Given the description of an element on the screen output the (x, y) to click on. 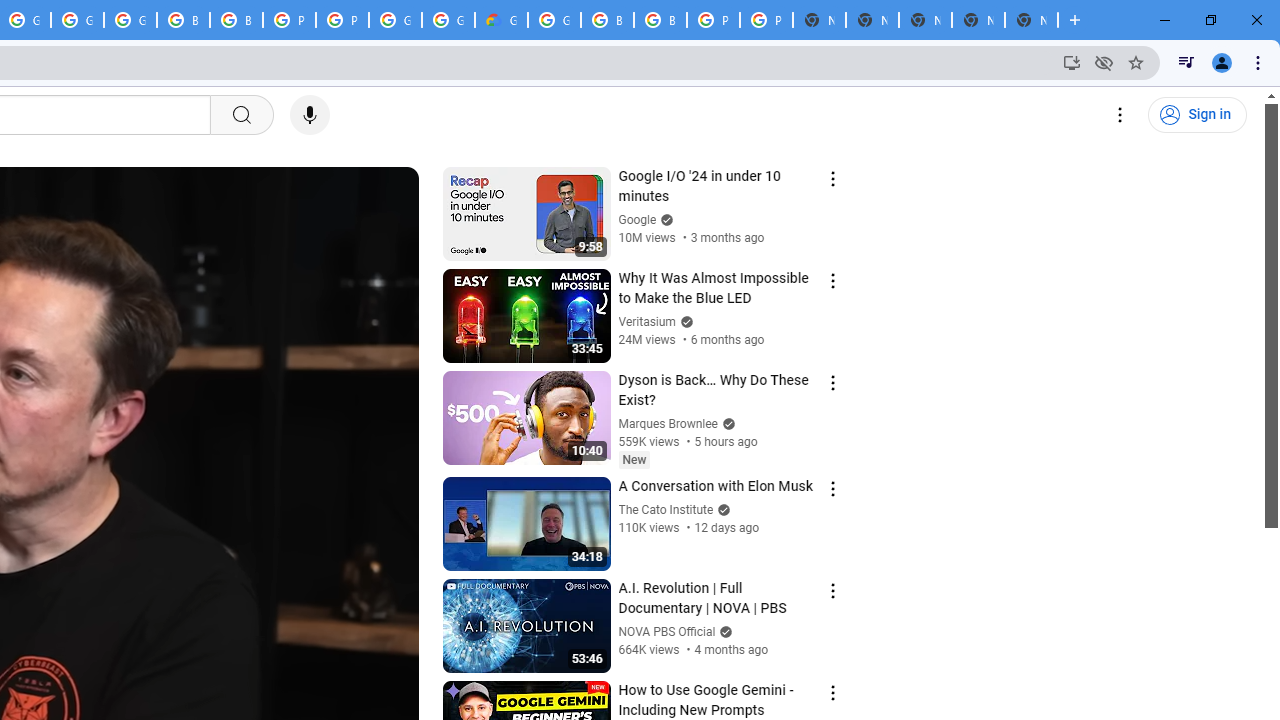
Browse Chrome as a guest - Computer - Google Chrome Help (183, 20)
Google Cloud Platform (554, 20)
New (634, 459)
